Given the description of an element on the screen output the (x, y) to click on. 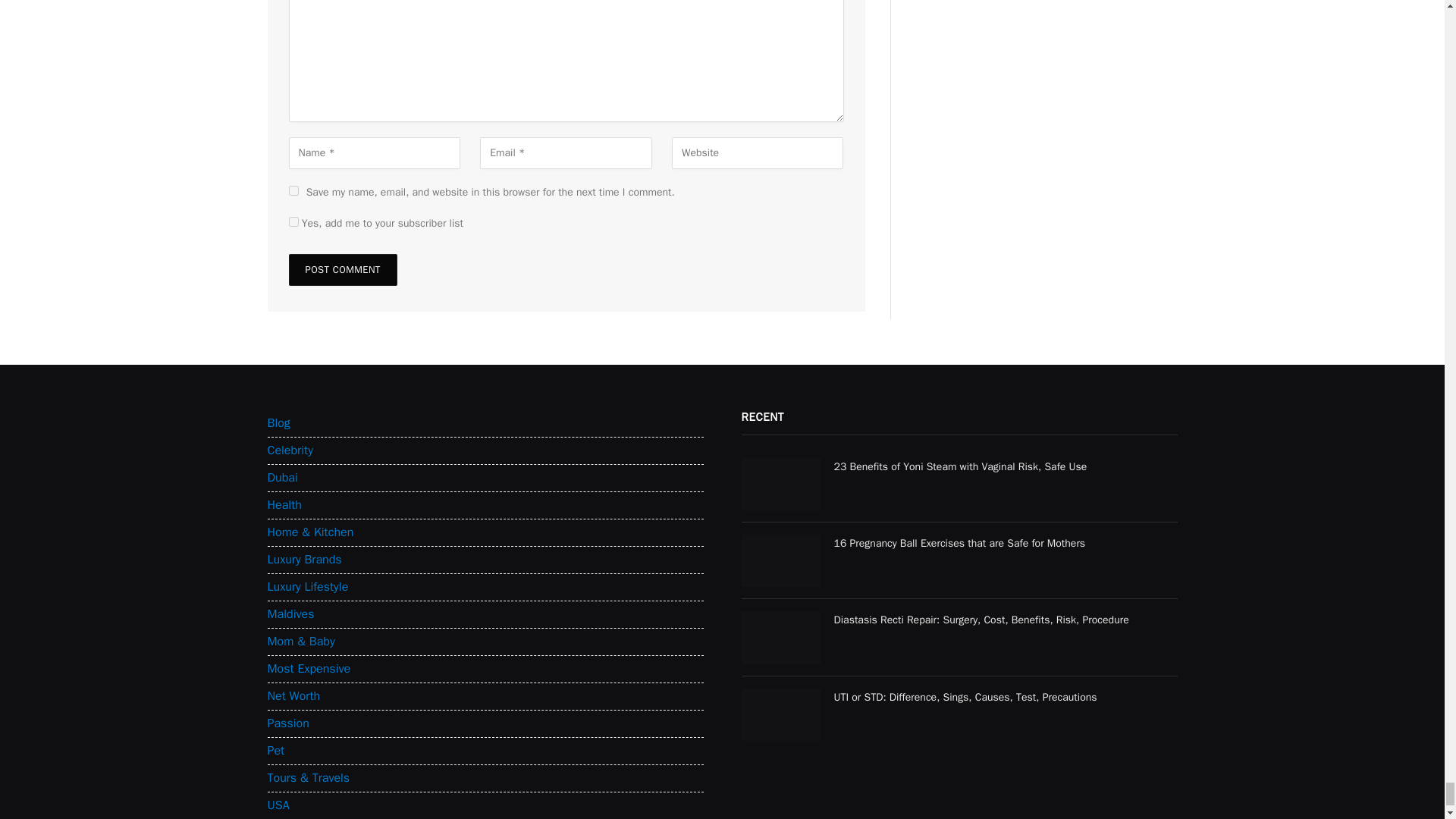
Post Comment (342, 269)
yes (293, 190)
1 (293, 221)
